Given the description of an element on the screen output the (x, y) to click on. 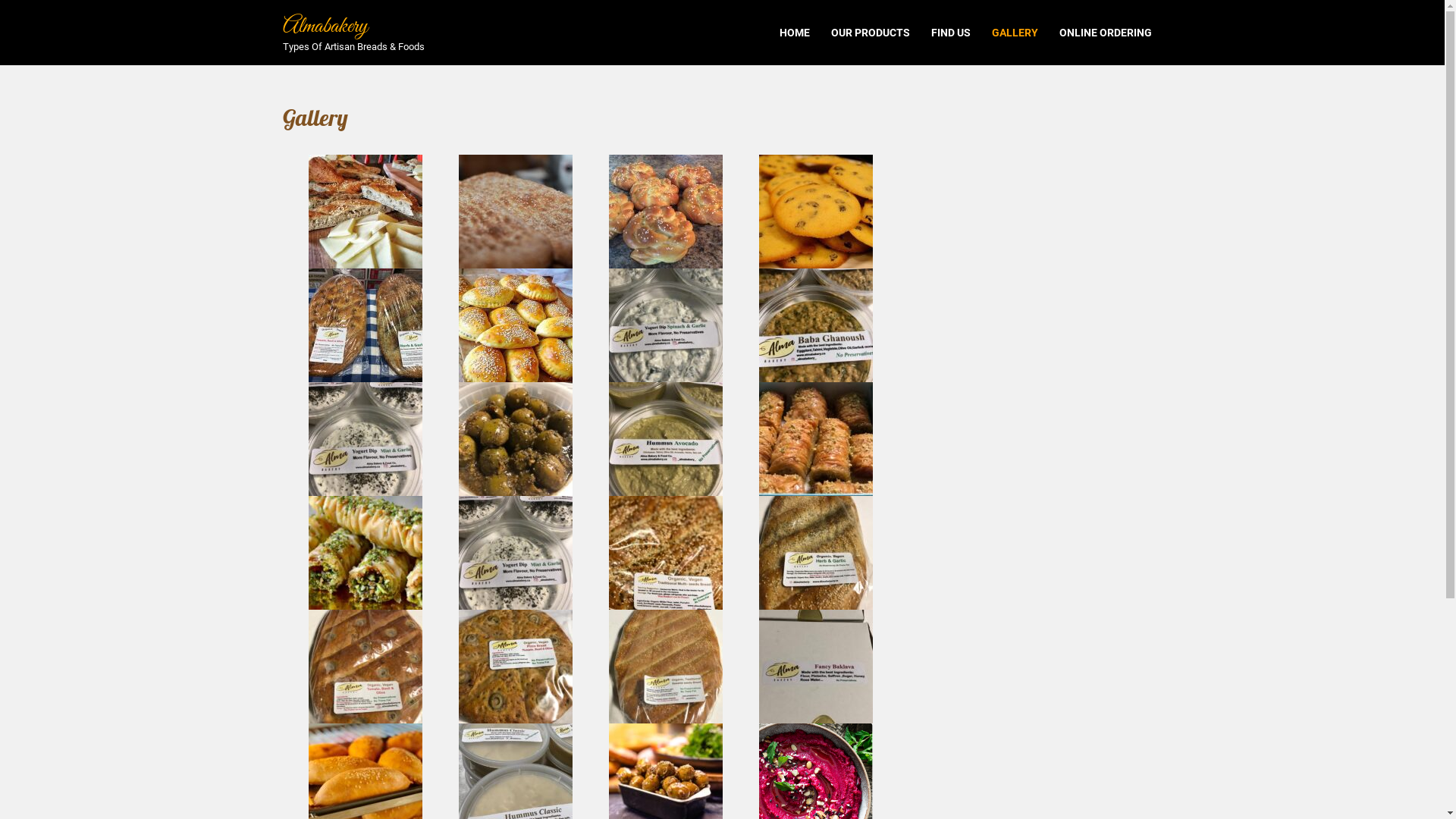
OUR PRODUCTS Element type: text (870, 32)
GALLERY Element type: text (1014, 32)
FIND US Element type: text (950, 32)
Almabakery Element type: text (324, 26)
HOME Element type: text (794, 32)
ONLINE ORDERING Element type: text (1104, 32)
